Given the description of an element on the screen output the (x, y) to click on. 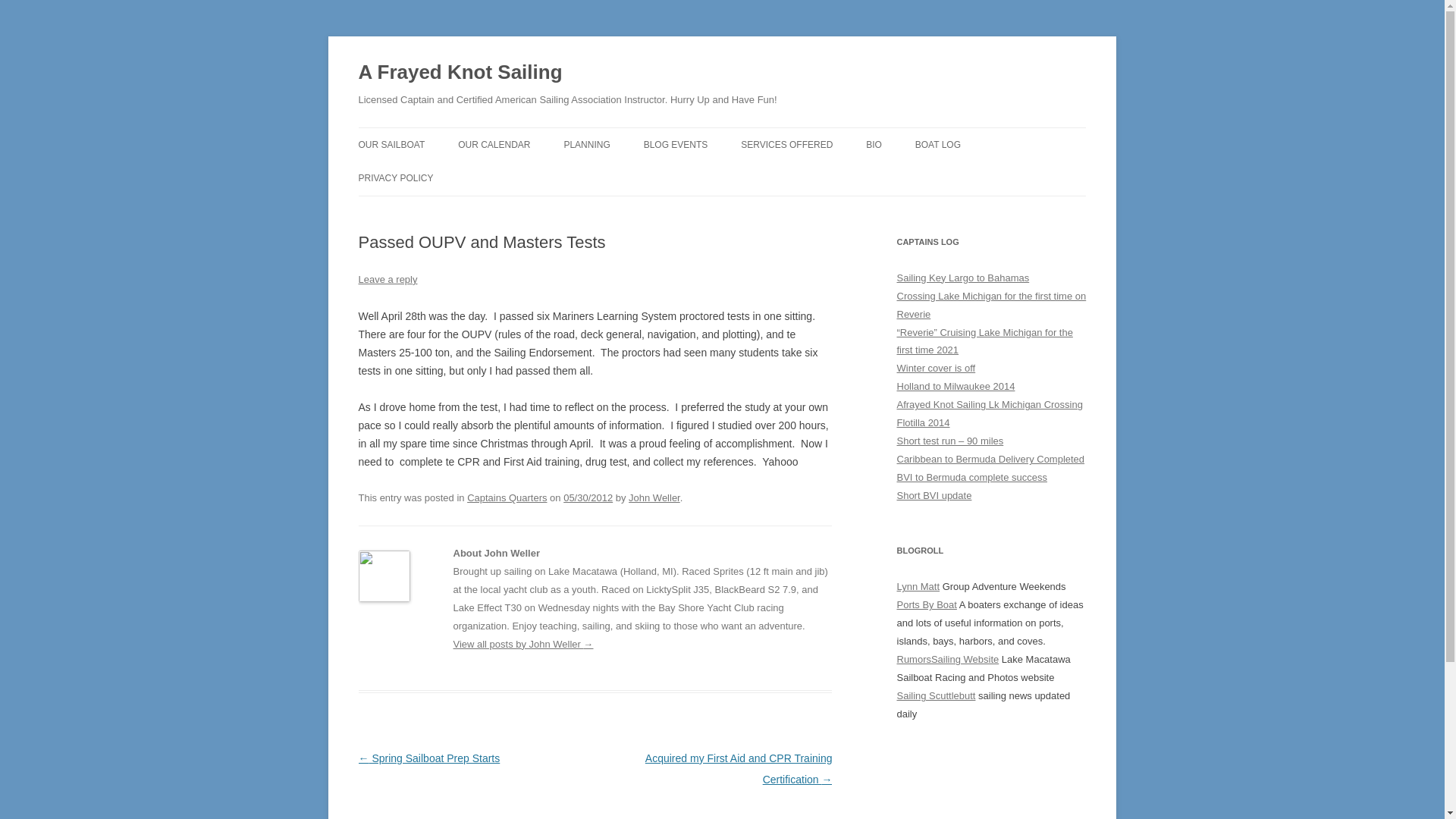
Lynn Matt (917, 586)
John Weller (653, 497)
Caribbean to Bermuda Delivery Completed (990, 459)
7:43 AM (587, 497)
OUR CALENDAR (493, 144)
sailing news updated daily (935, 695)
Short BVI update (933, 495)
View all posts by John Weller (653, 497)
Captains Quarters (507, 497)
Sailing Scuttlebutt (935, 695)
